Given the description of an element on the screen output the (x, y) to click on. 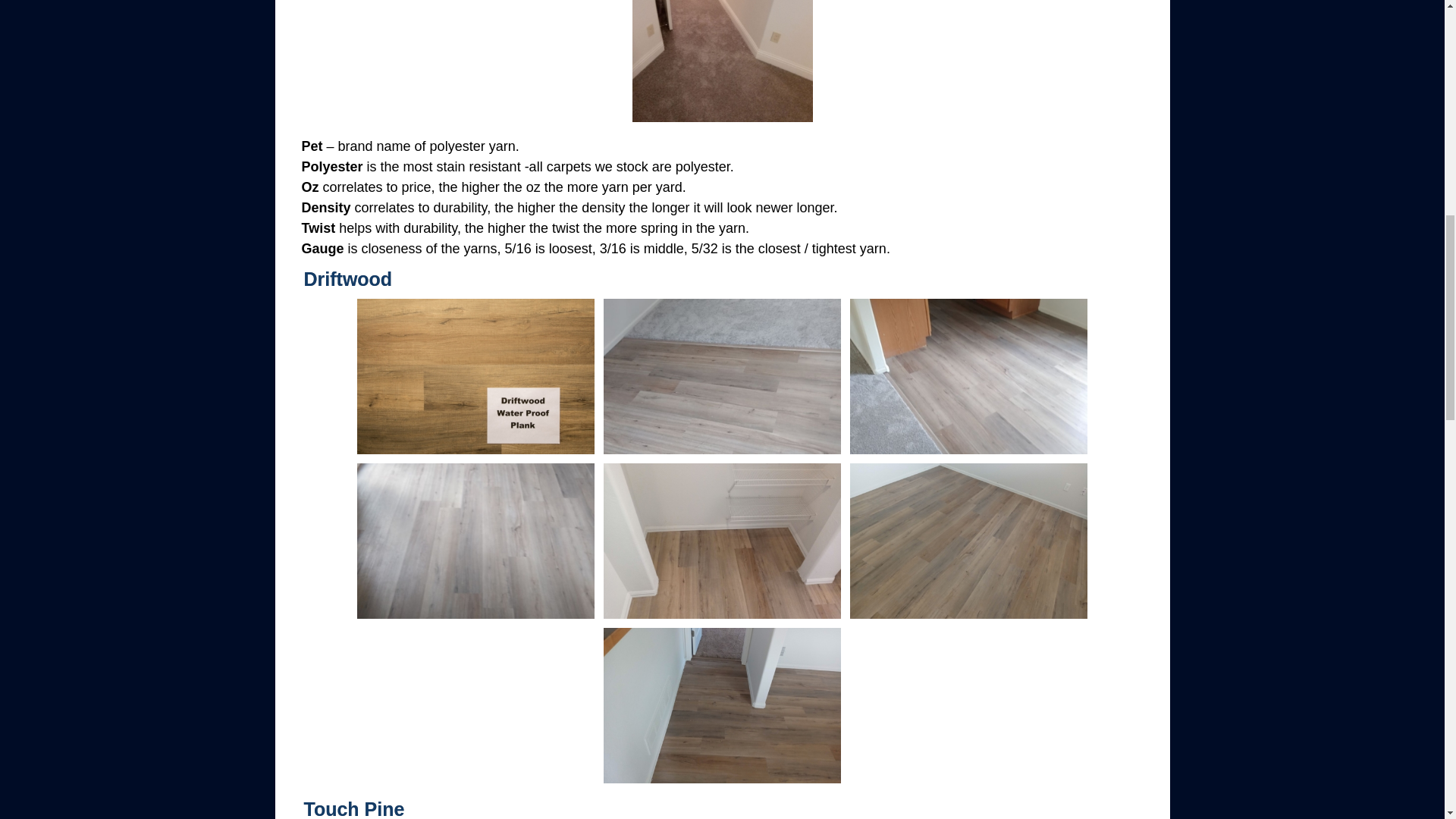
Luxury-Vinyl-Plank-Touch-Pine-01 (475, 784)
Driftwood-Waterproof-Luxury-Vinyl-Plank-Fort-Collins-07 (722, 705)
Spinning-Wheel-4-Carpet-Fort-Collins-05 (722, 61)
Driftwood-Waterproof-Luxury-Vinyl-Plank-Fort-Collins-03 (968, 376)
Driftwood-Waterproof-Luxury-Vinyl-Plank-Fort-Collins-01 (475, 376)
Driftwood-Waterproof-Luxury-Vinyl-Plank-Fort-Collins-05 (722, 540)
Driftwood-Waterproof-Luxury-Vinyl-Plank-Fort-Collins-06 (968, 540)
Driftwood-Waterproof-Luxury-Vinyl-Plank-Fort-Collins-02 (722, 376)
Driftwood-Waterproof-Luxury-Vinyl-Plank-Fort-Collins-04 (475, 541)
